Given the description of an element on the screen output the (x, y) to click on. 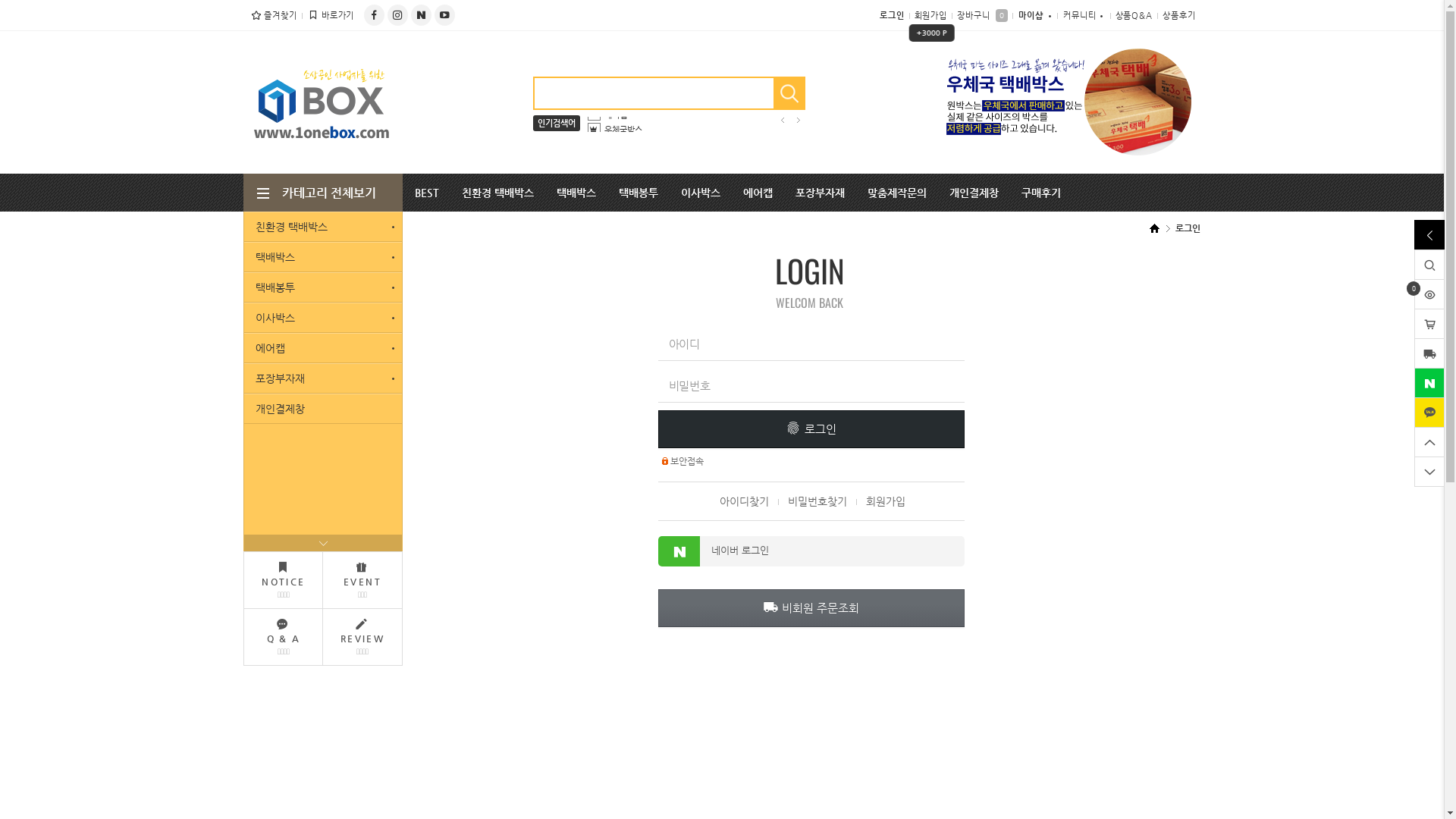
BEST Element type: text (426, 192)
